Given the description of an element on the screen output the (x, y) to click on. 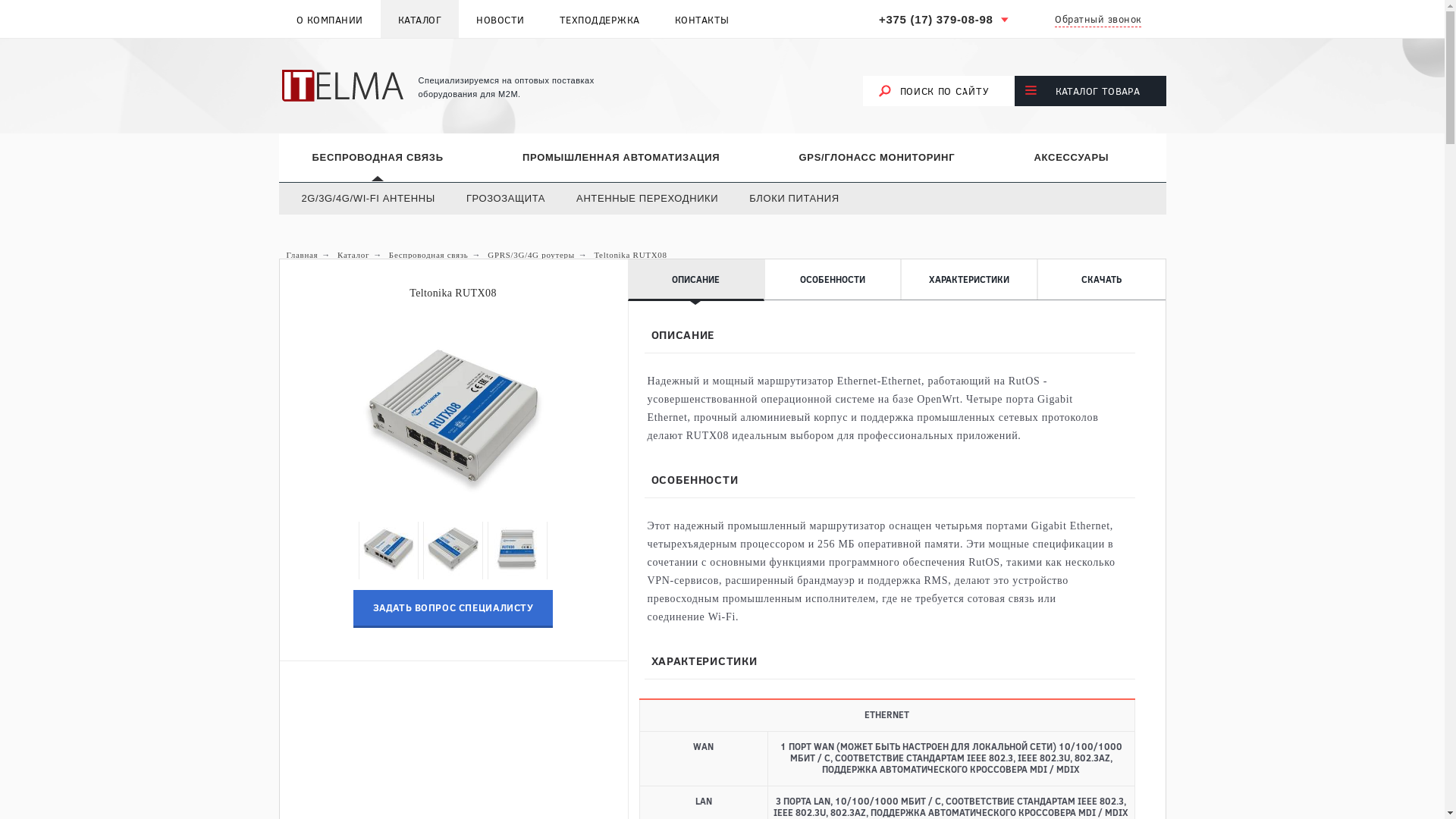
Teltonika RUTX08 Element type: text (629, 254)
